Given the description of an element on the screen output the (x, y) to click on. 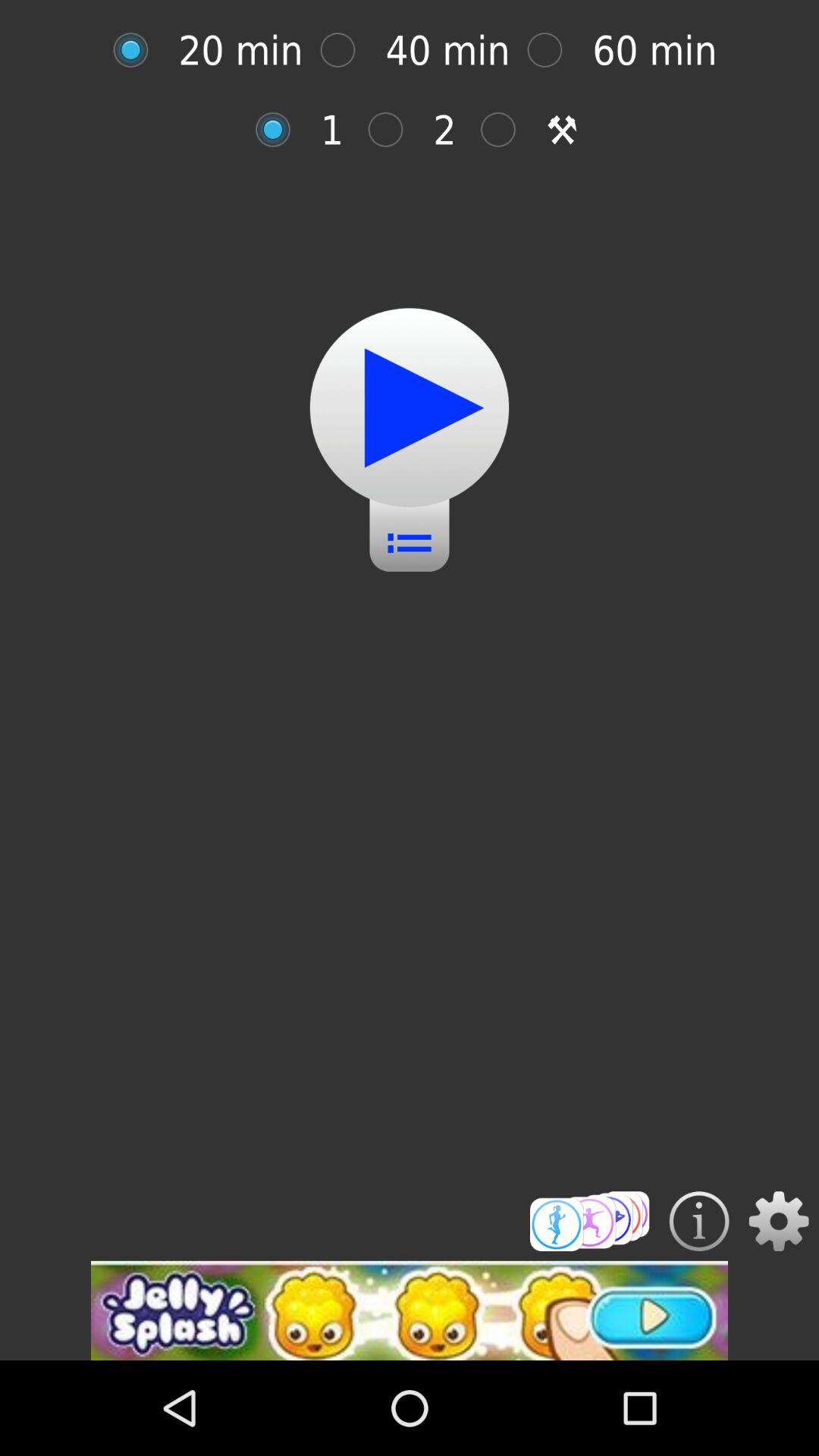
select 60 min (552, 49)
